Given the description of an element on the screen output the (x, y) to click on. 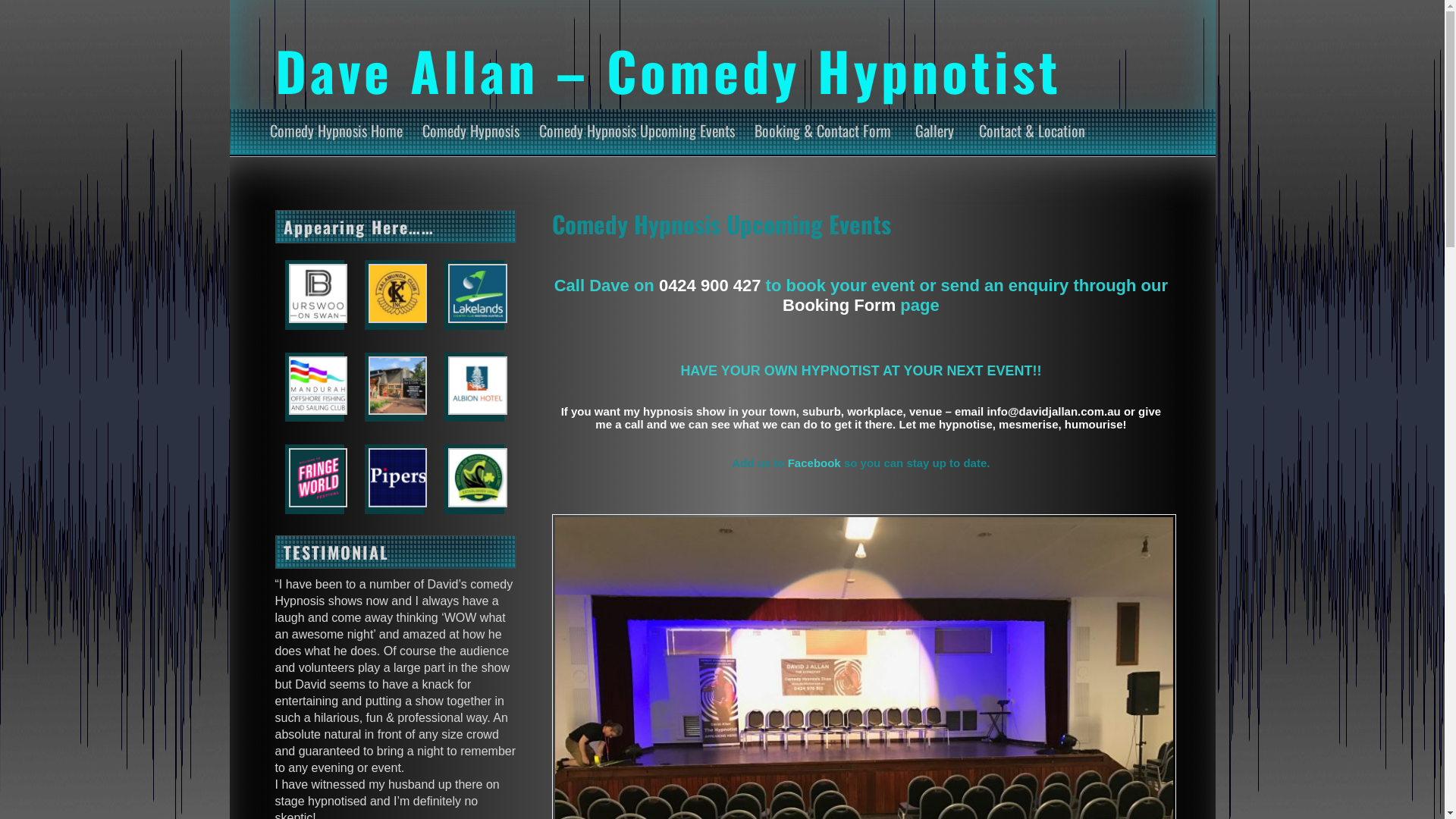
Booking Form Element type: text (838, 304)
Facebook Element type: text (813, 462)
Contact & Location Element type: text (1031, 129)
Comedy Hypnosis Home Element type: text (335, 129)
Gallery Element type: text (933, 129)
Comedy Hypnosis Upcoming Events Element type: text (721, 223)
Comedy Hypnosis Upcoming Events Element type: text (636, 129)
Comedy Hypnosis Element type: text (469, 129)
Booking & Contact Form Element type: text (821, 129)
